Given the description of an element on the screen output the (x, y) to click on. 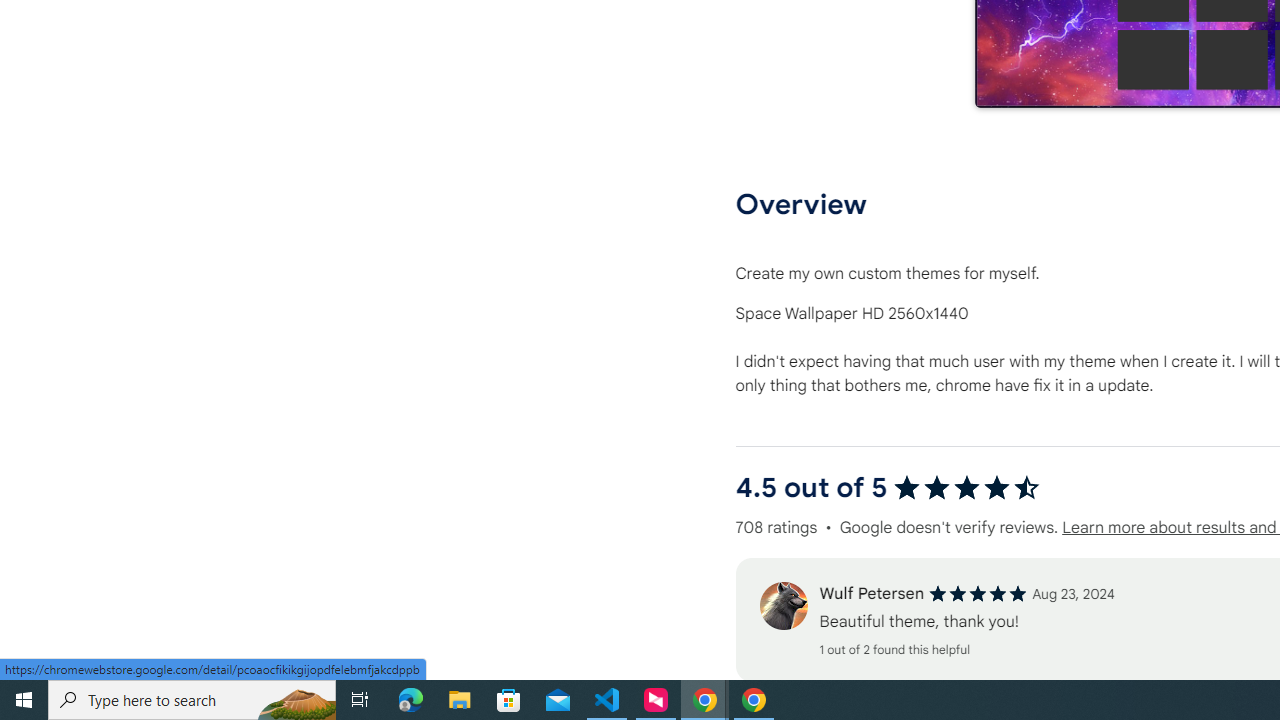
4.5 out of 5 stars (965, 488)
5 out of 5 stars (978, 593)
Review's profile picture (783, 605)
